Given the description of an element on the screen output the (x, y) to click on. 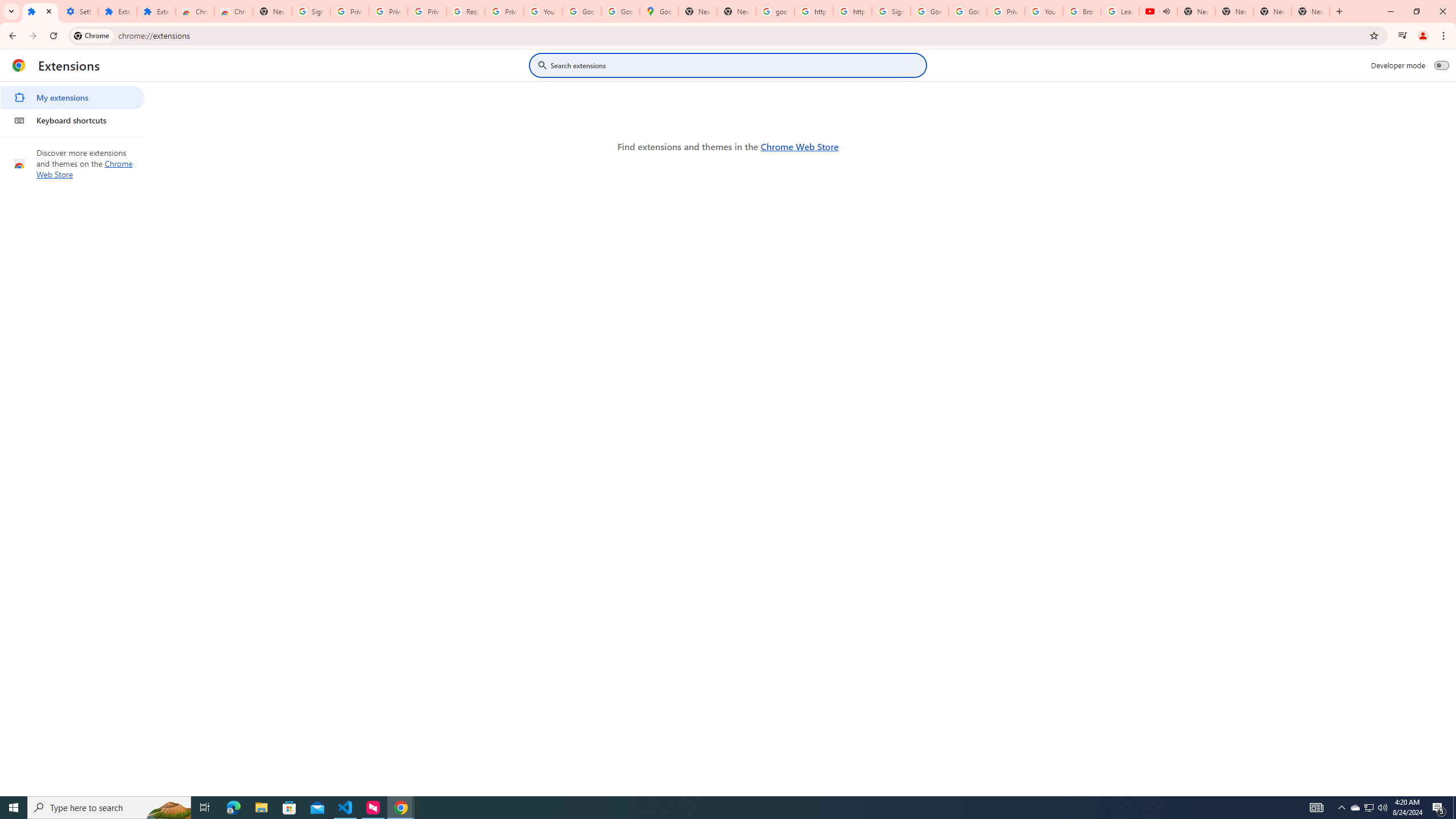
AutomationID: sectionMenu (72, 106)
Chrome Web Store (799, 146)
Extensions (40, 11)
https://scholar.google.com/ (813, 11)
Chrome Web Store (194, 11)
Chrome Web Store - Themes (233, 11)
New Tab (1311, 11)
